Given the description of an element on the screen output the (x, y) to click on. 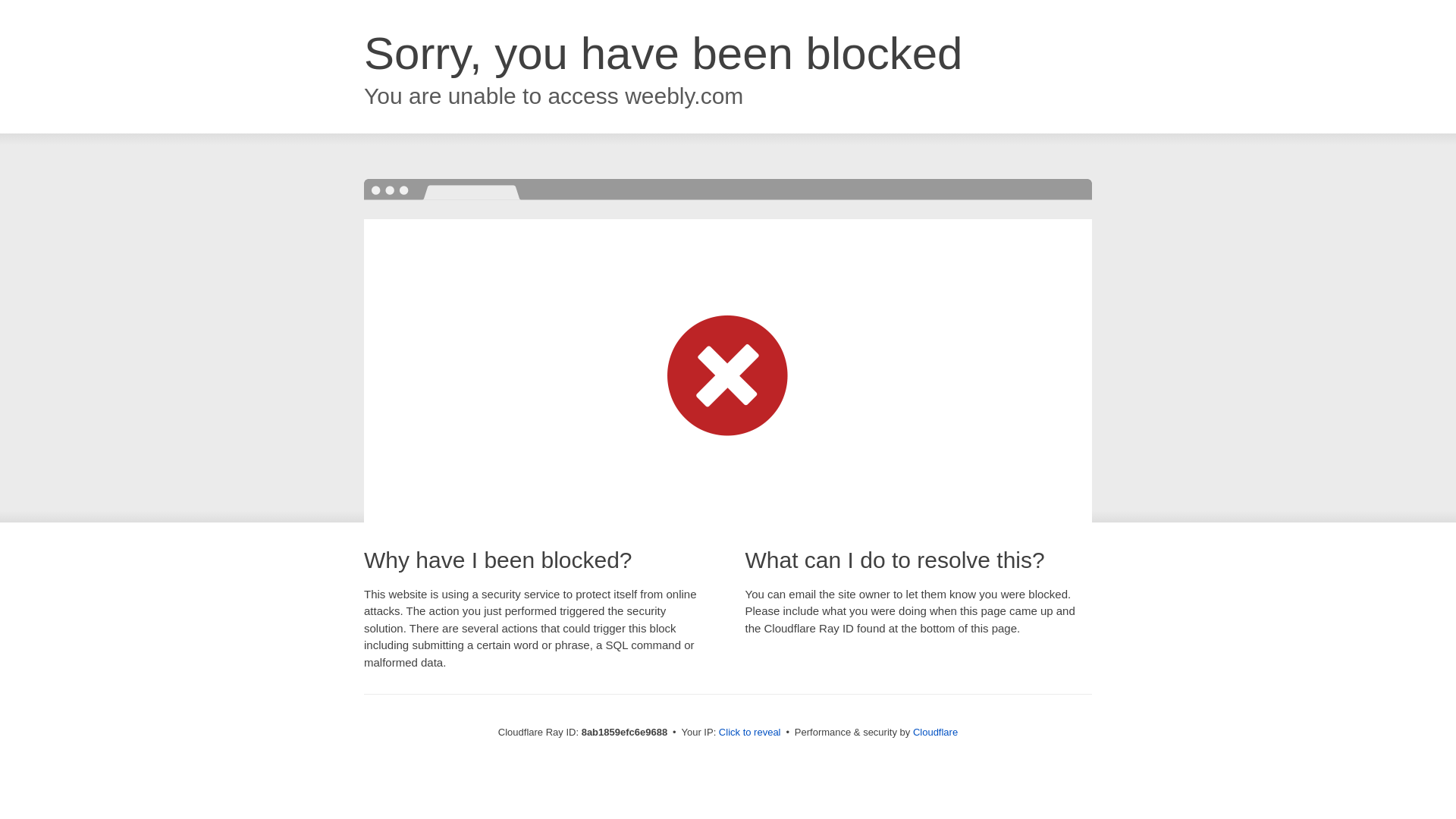
Cloudflare (935, 731)
Click to reveal (749, 732)
